Given the description of an element on the screen output the (x, y) to click on. 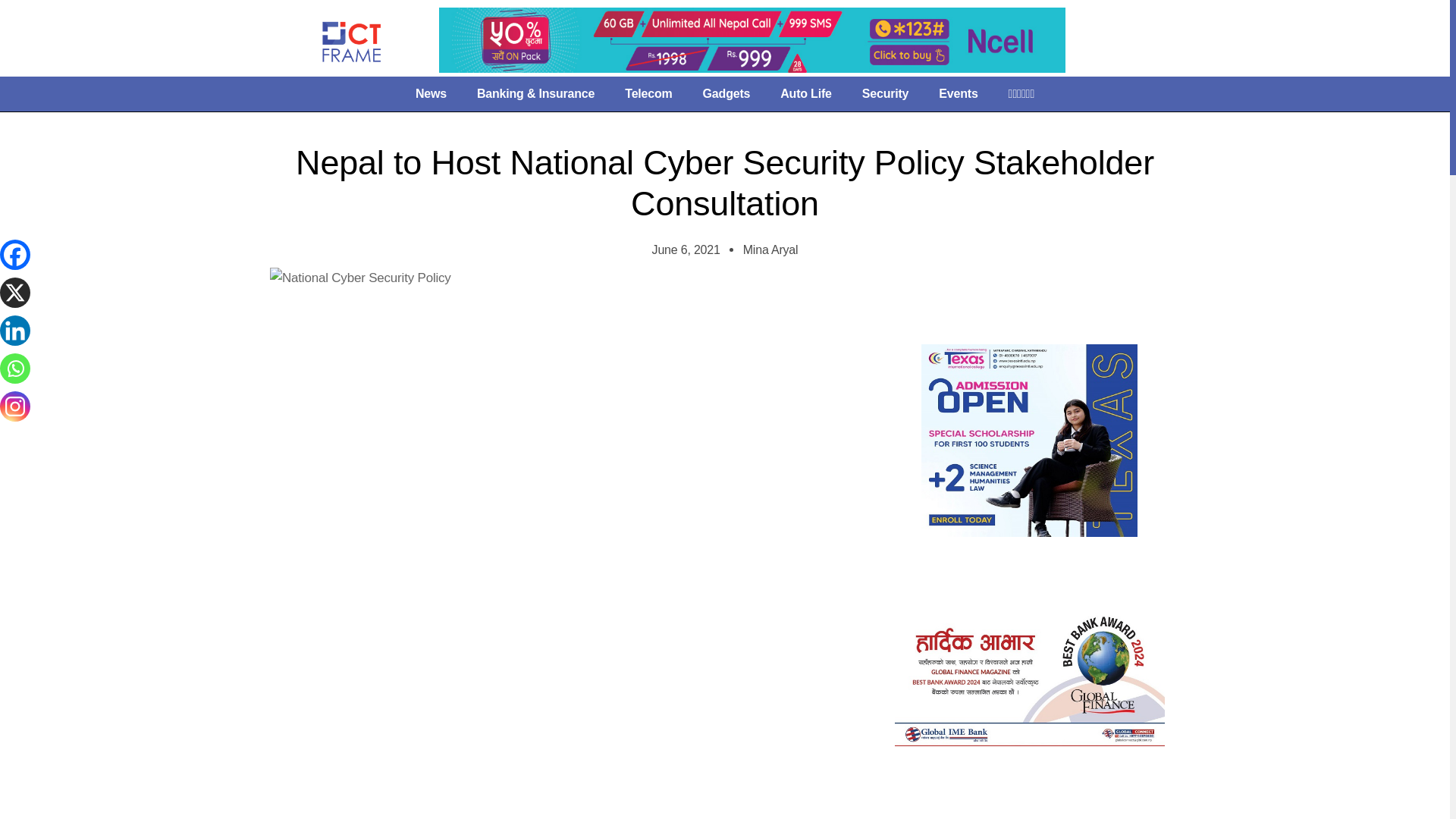
Auto Life (806, 93)
Whatsapp (15, 368)
Events (957, 93)
Security (885, 93)
Linkedin (15, 330)
Telecom (648, 93)
X (15, 292)
Gadgets (726, 93)
News (430, 93)
Facebook (15, 254)
